Given the description of an element on the screen output the (x, y) to click on. 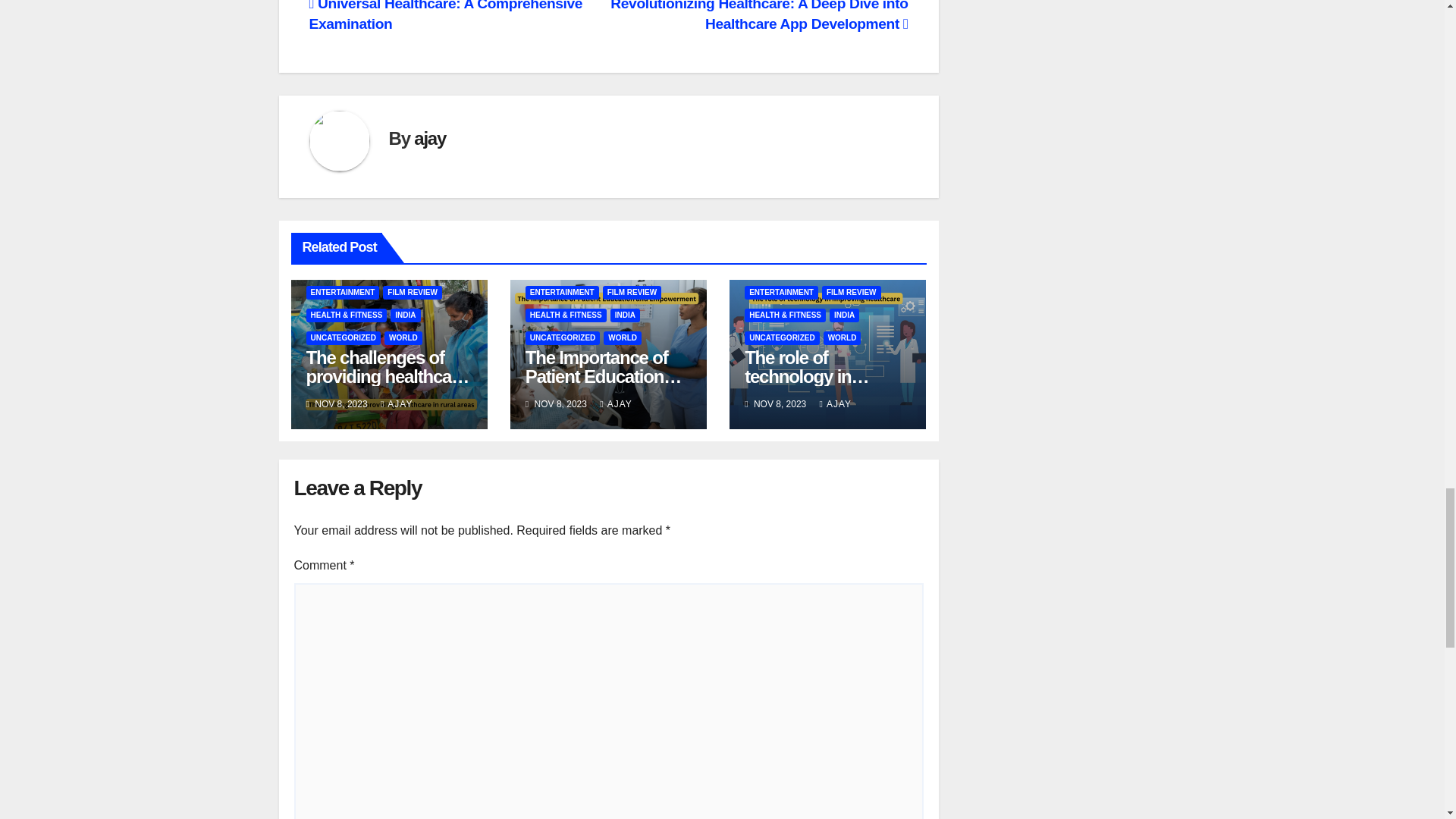
Permalink to: The role of technology in improving healthcare (827, 376)
UNCATEGORIZED (342, 337)
Universal Healthcare: A Comprehensive Examination (445, 15)
FILM REVIEW (412, 292)
ENTERTAINMENT (342, 292)
INDIA (405, 315)
ajay (429, 137)
